Given the description of an element on the screen output the (x, y) to click on. 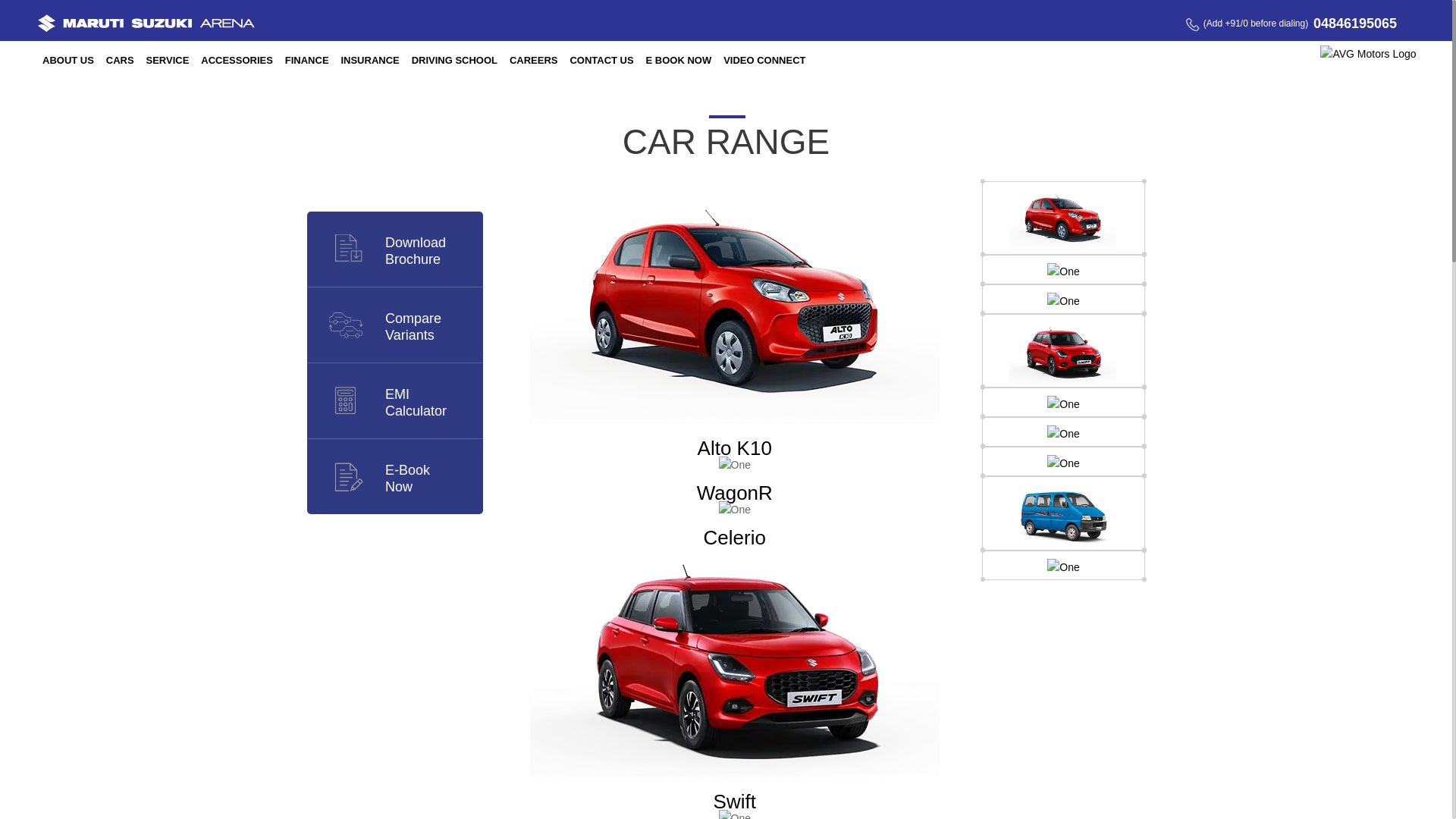
04846195065 (415, 402)
E BOOK NOW (1354, 22)
CAREERS (679, 60)
SERVICE (533, 60)
CONTACT US (167, 60)
DRIVING SCHOOL (600, 60)
ACCESSORIES (454, 60)
INSURANCE (237, 60)
